Given the description of an element on the screen output the (x, y) to click on. 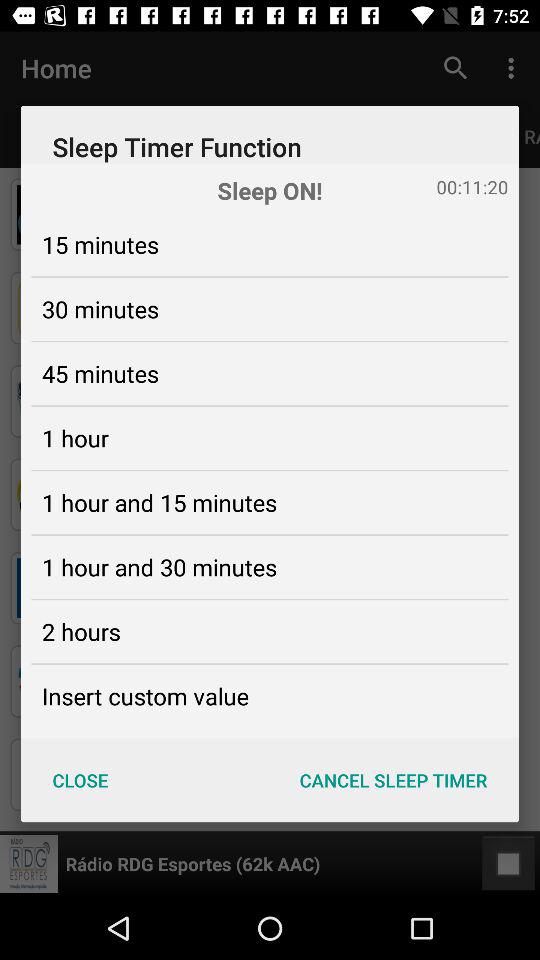
press the insert custom value icon (145, 696)
